Given the description of an element on the screen output the (x, y) to click on. 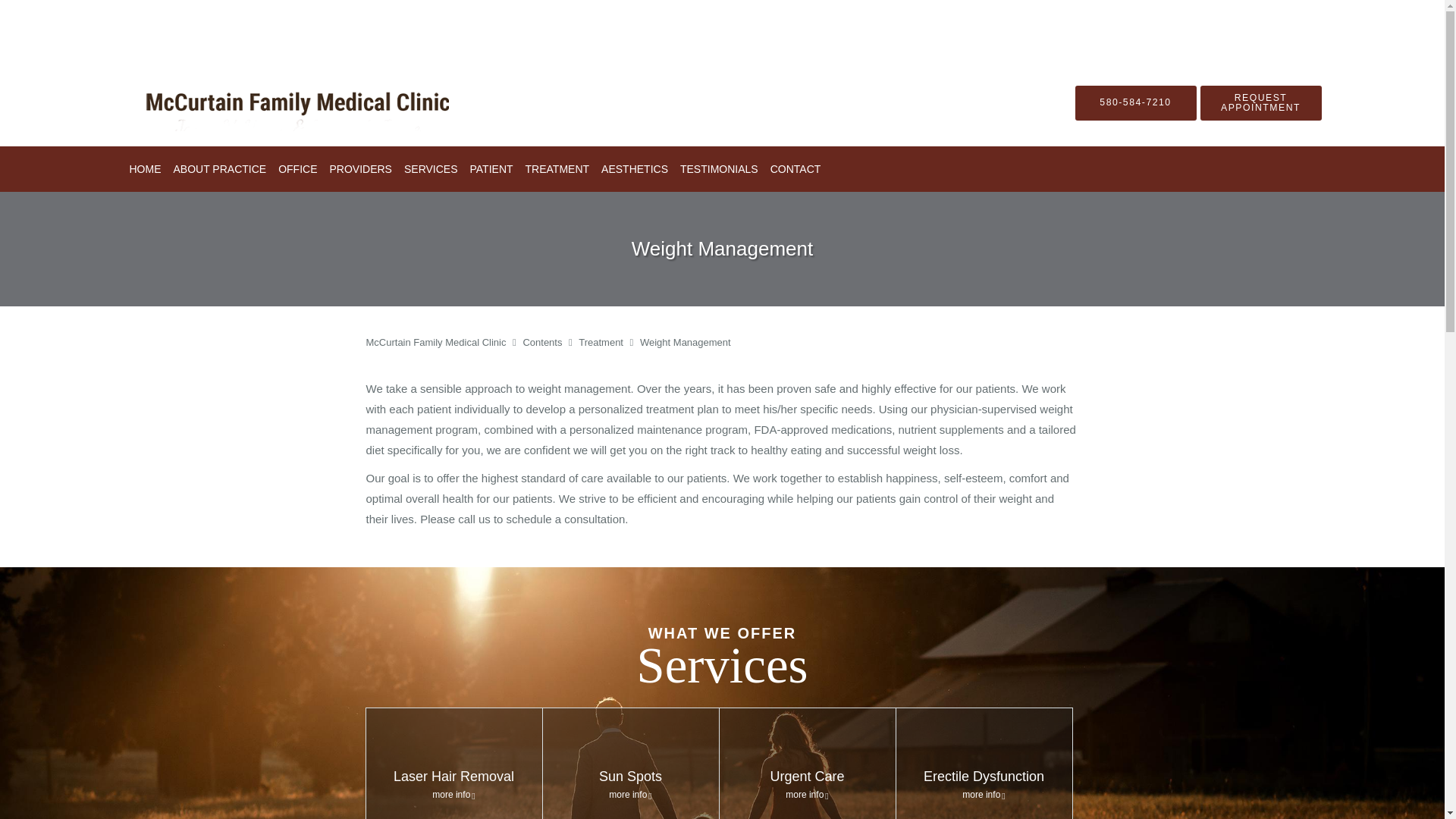
PROVIDERS (360, 168)
580-584-7210 (1135, 102)
SERVICES (430, 168)
TREATMENT (557, 168)
OFFICE (297, 168)
HOME (144, 168)
ABOUT PRACTICE (219, 168)
PATIENT (491, 168)
REQUEST APPOINTMENT (1259, 102)
